Given the description of an element on the screen output the (x, y) to click on. 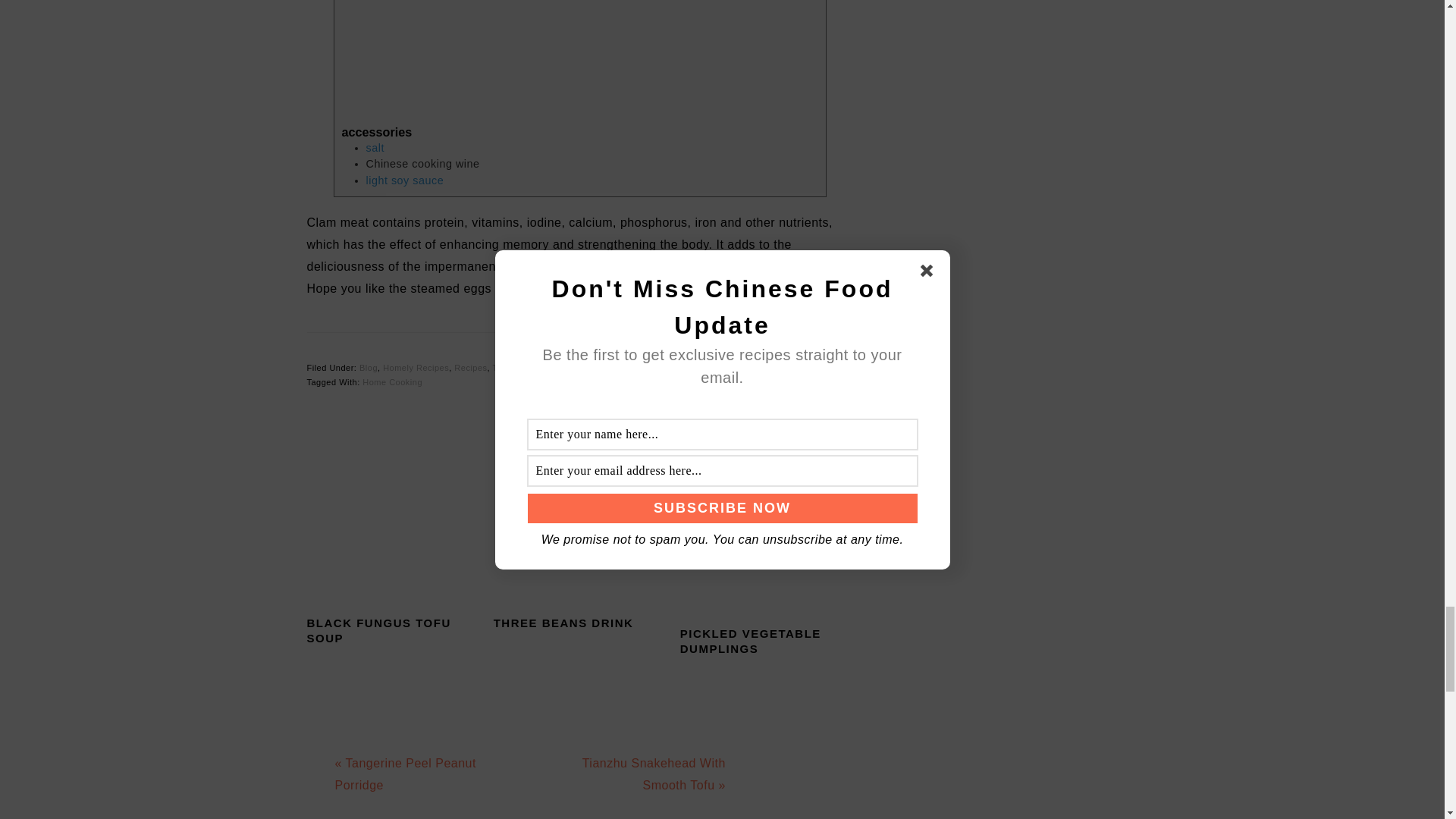
Pickled Vegetable Dumplings (766, 550)
Three Beans Drink (579, 544)
Black Fungus Tofu Soup (392, 544)
